Given the description of an element on the screen output the (x, y) to click on. 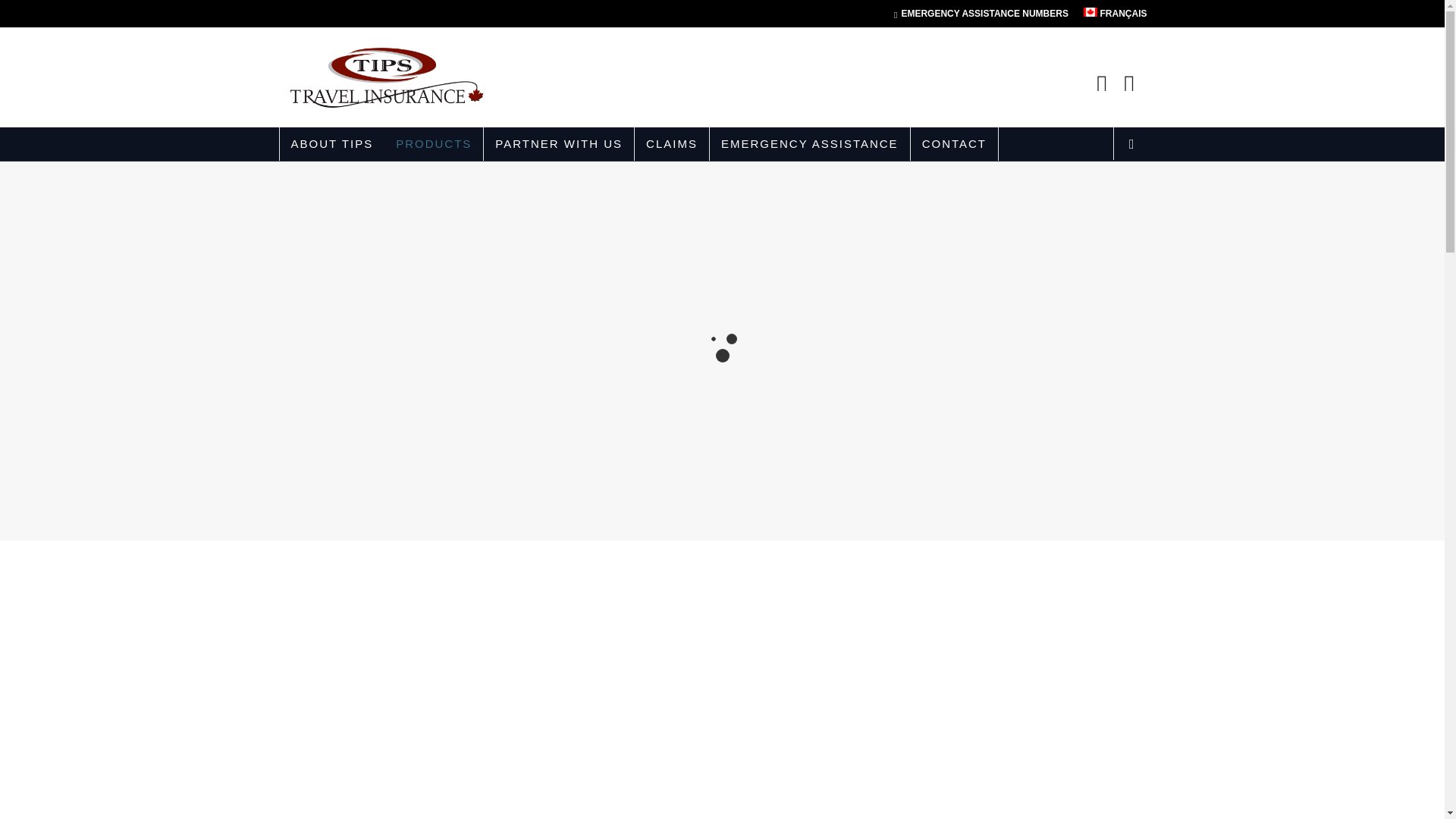
EMERGENCY ASSISTANCE NUMBERS (980, 13)
PRODUCTS (433, 143)
ABOUT TIPS (331, 143)
